Given the description of an element on the screen output the (x, y) to click on. 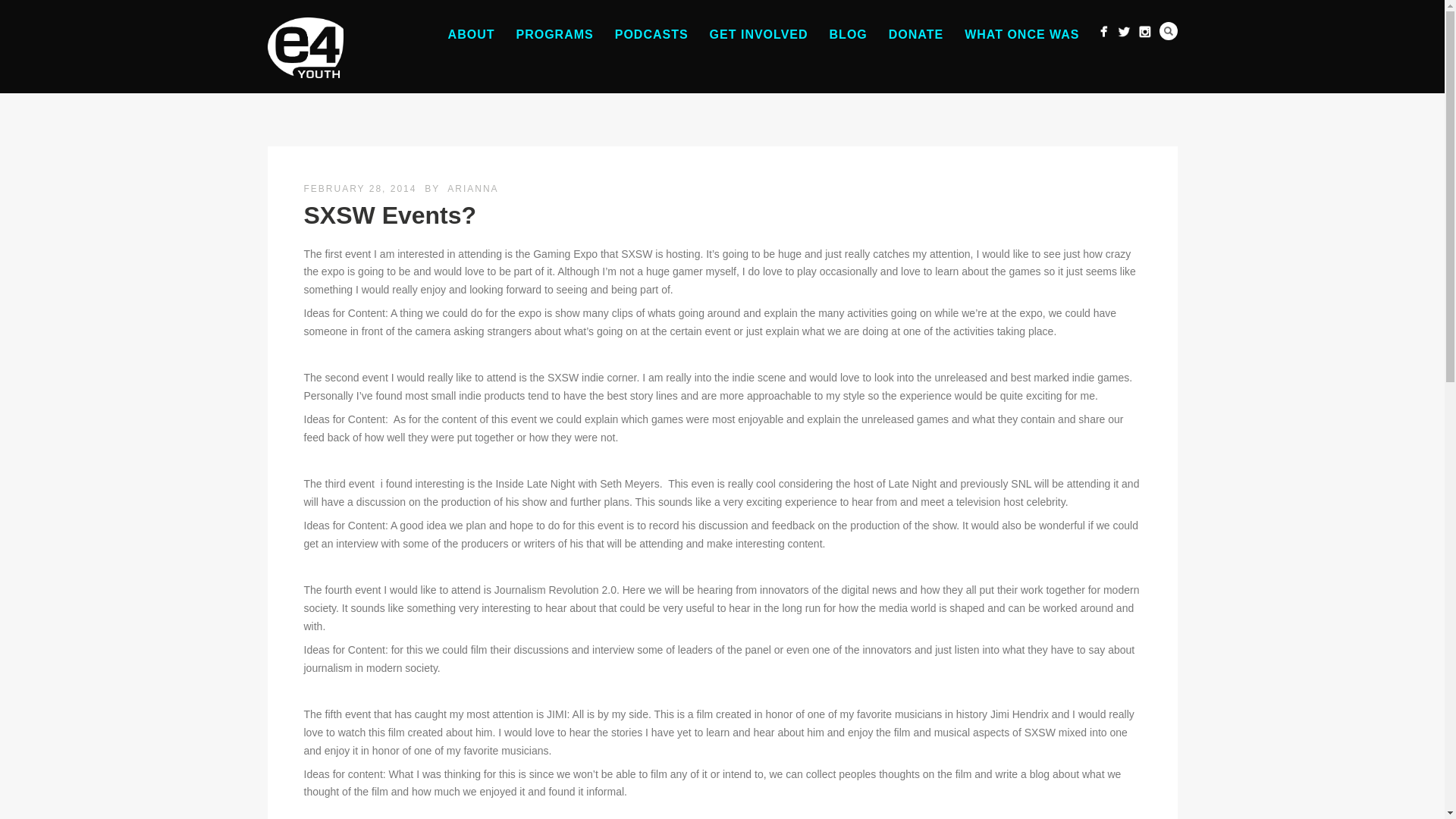
ABOUT (471, 33)
BLOG (847, 33)
WHAT ONCE WAS (1021, 33)
PROGRAMS (554, 33)
DONATE (915, 33)
GET INVOLVED (758, 33)
Search (1167, 31)
PODCASTS (651, 33)
